Given the description of an element on the screen output the (x, y) to click on. 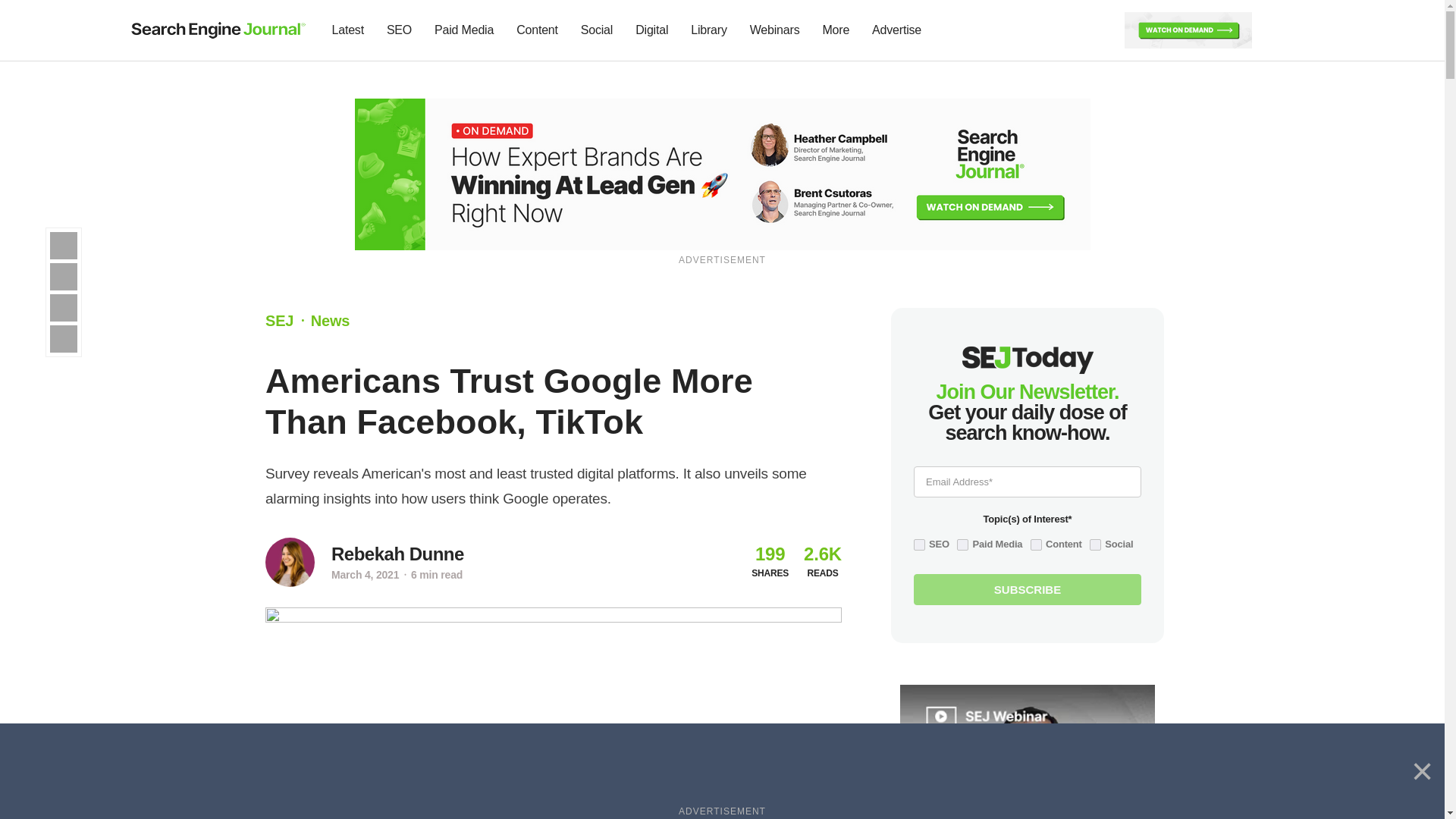
Register Now (1187, 28)
Latest (347, 30)
Go to Author Page (397, 553)
Subscribe to our Newsletter (1277, 30)
Paid Media (464, 30)
Register Now (722, 172)
Go to Author Page (289, 562)
